Given the description of an element on the screen output the (x, y) to click on. 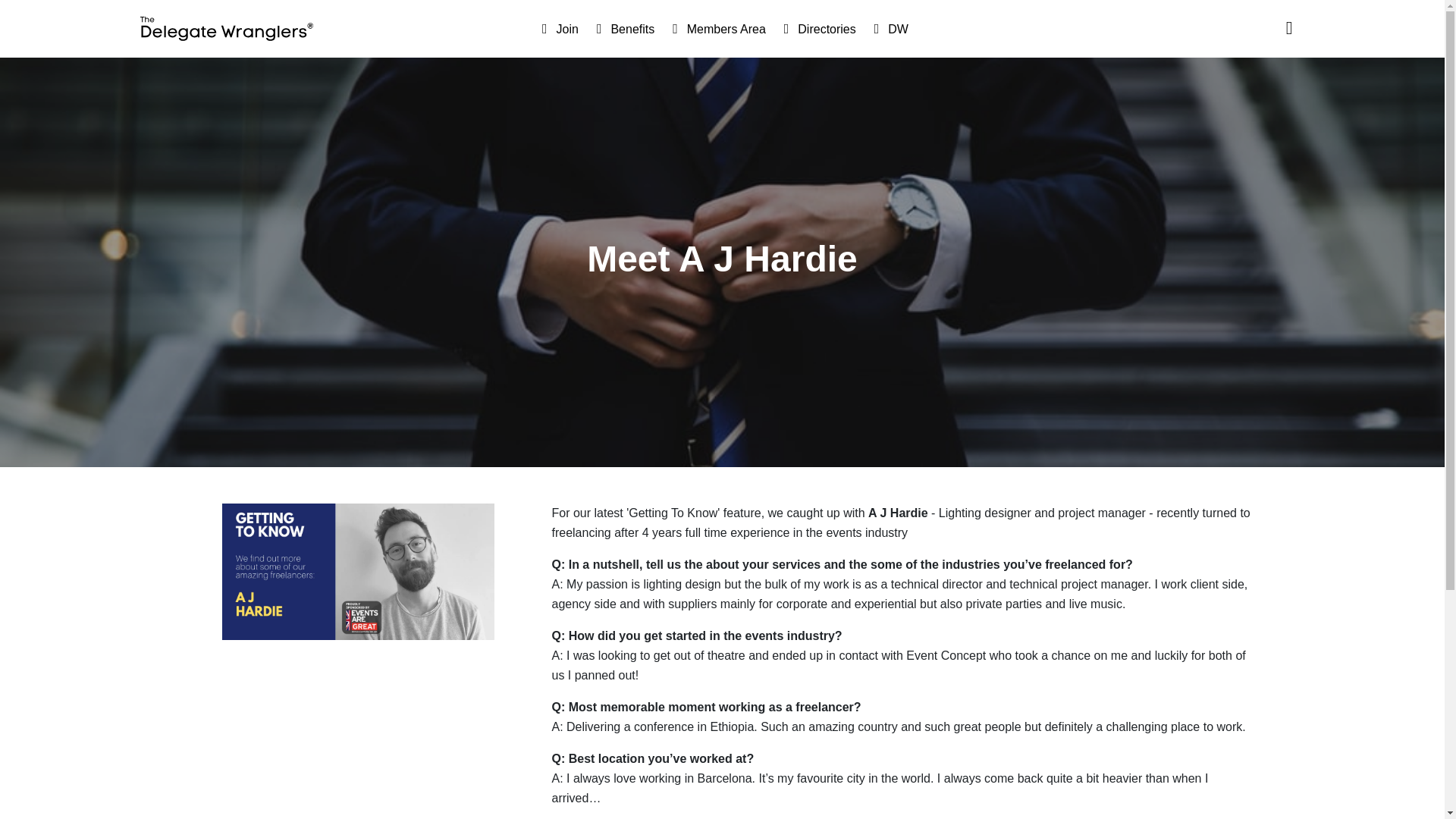
DW (887, 28)
Members Area (715, 28)
Join (556, 28)
Directories (816, 28)
Benefits (622, 28)
